Given the description of an element on the screen output the (x, y) to click on. 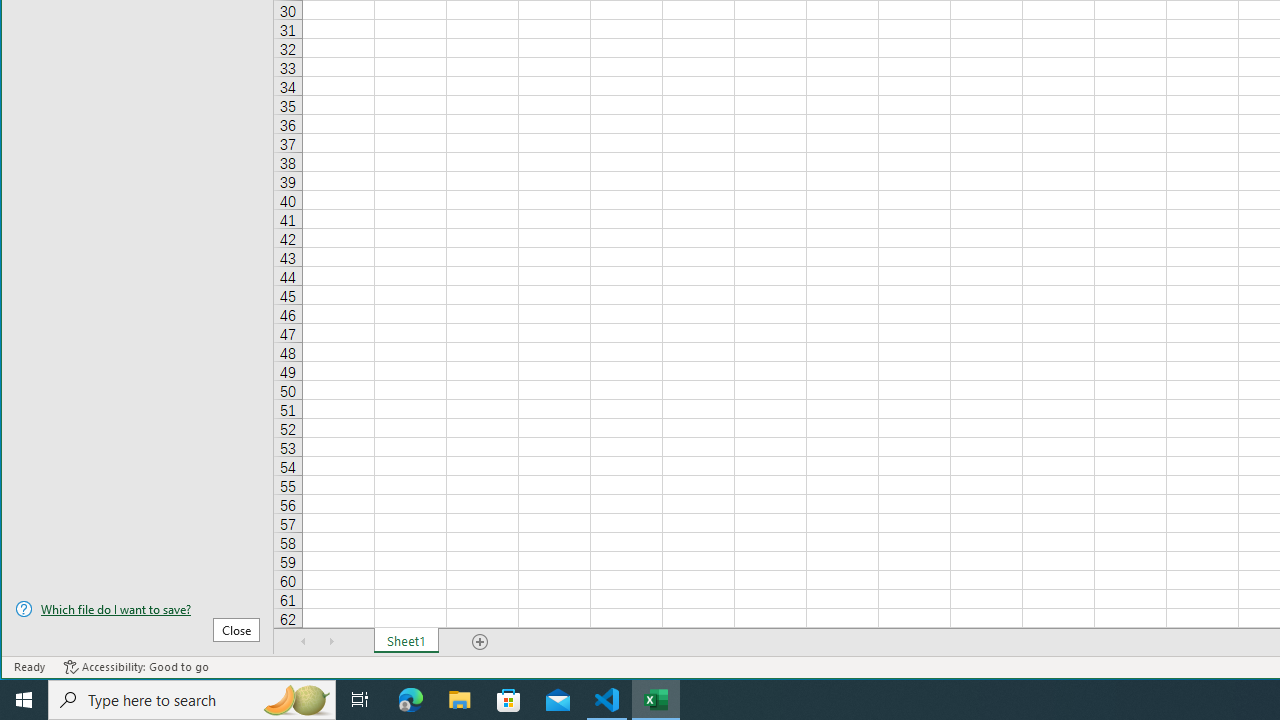
File Explorer (460, 699)
